Given the description of an element on the screen output the (x, y) to click on. 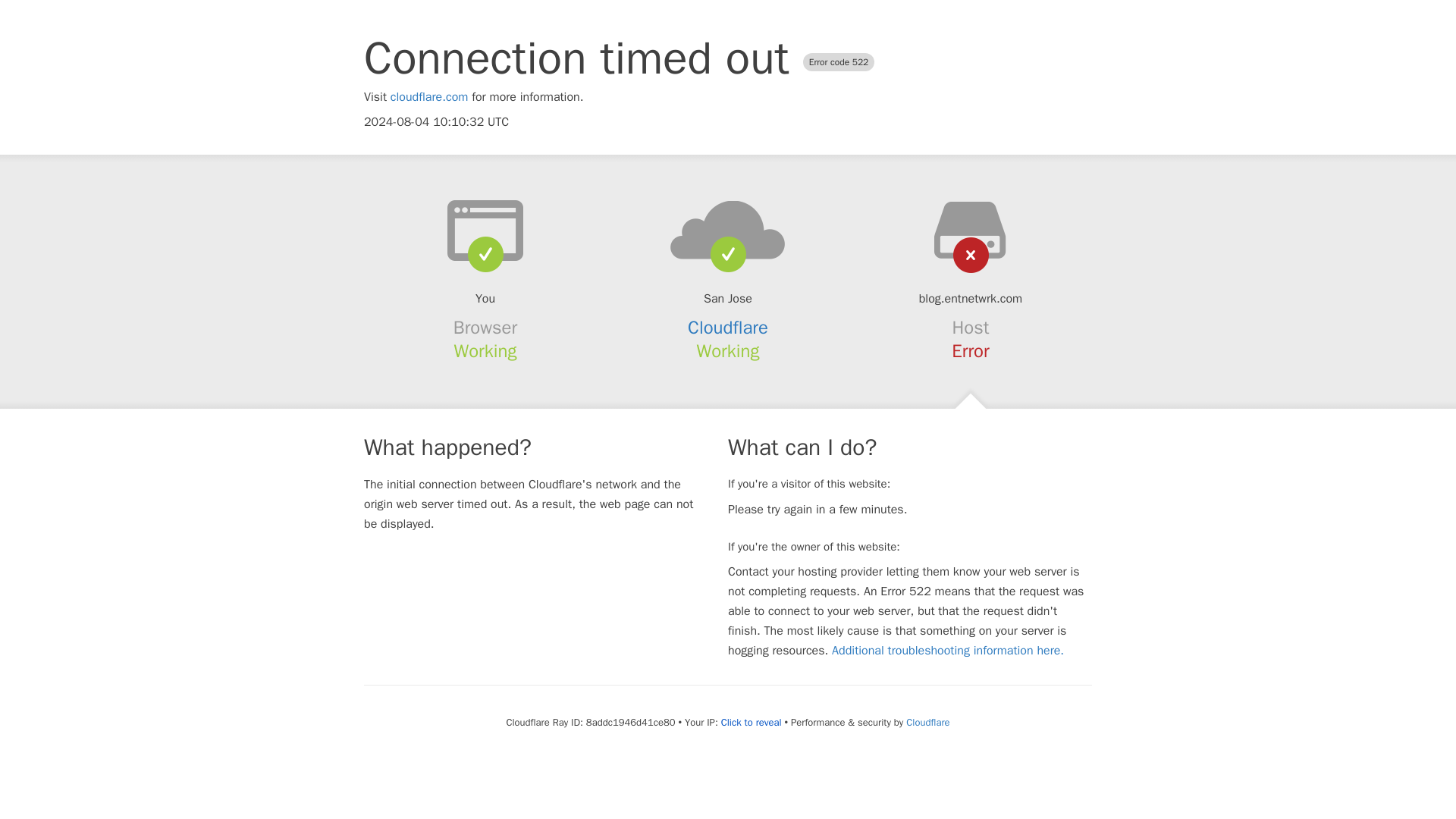
Additional troubleshooting information here. (947, 650)
Click to reveal (750, 722)
cloudflare.com (429, 96)
Cloudflare (927, 721)
Cloudflare (727, 327)
